Given the description of an element on the screen output the (x, y) to click on. 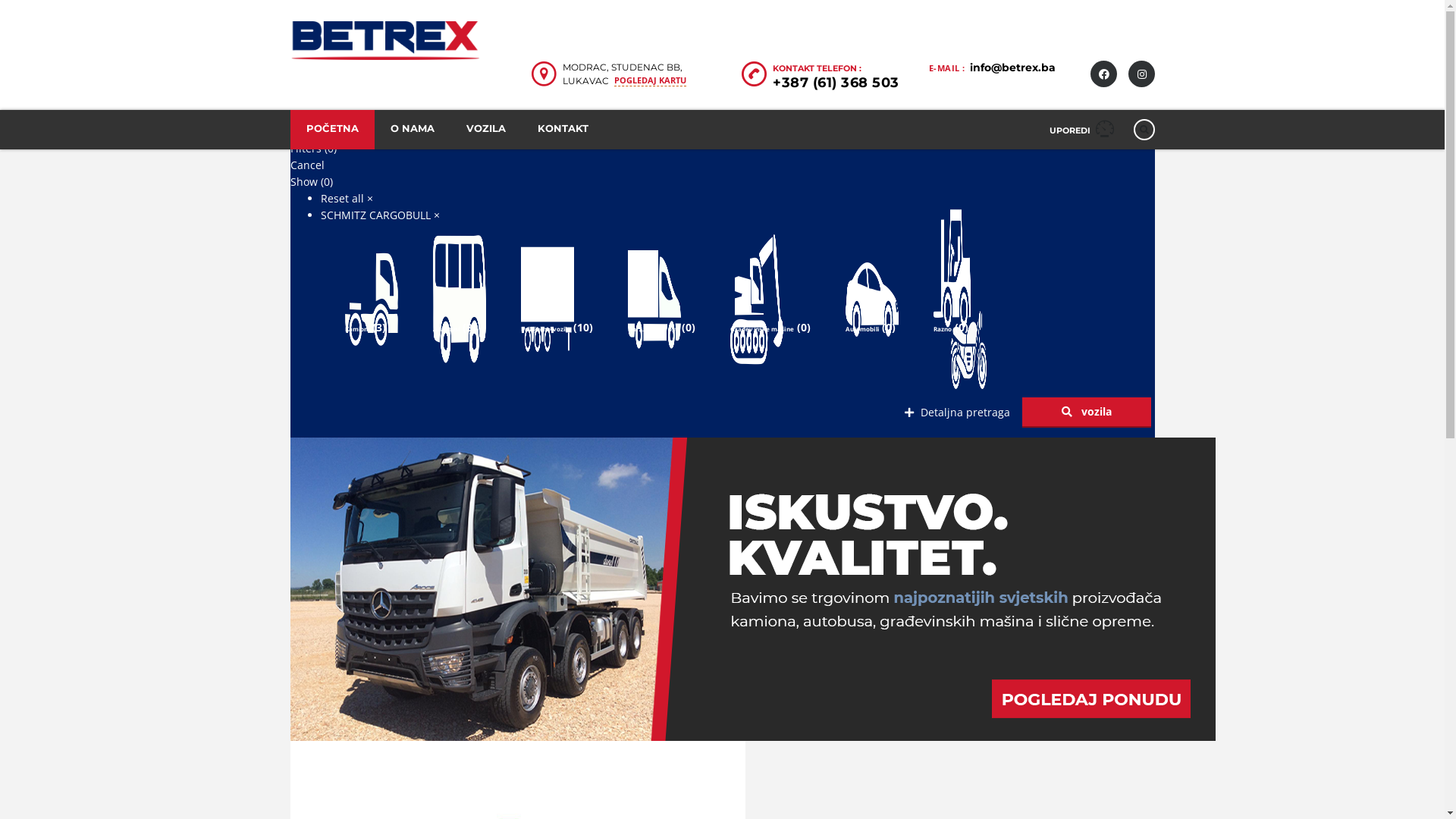
vozila Element type: text (1086, 411)
Do 7.5t nosivosti Element type: text (652, 326)
Cancel Element type: text (306, 164)
Filters (0) Element type: text (312, 148)
Automobili Element type: text (861, 326)
Autobusi Element type: text (445, 326)
info@betrex.ba Element type: text (1011, 67)
VOZILA Element type: text (485, 129)
Kamioni Element type: text (356, 326)
Show (0) Element type: text (310, 181)
UPOREDI Element type: text (1080, 129)
Home Element type: hover (384, 40)
KONTAKT Element type: text (562, 129)
Razno Element type: text (942, 326)
O NAMA Element type: text (412, 129)
+387 (61) 368 503 Element type: text (835, 82)
